Given the description of an element on the screen output the (x, y) to click on. 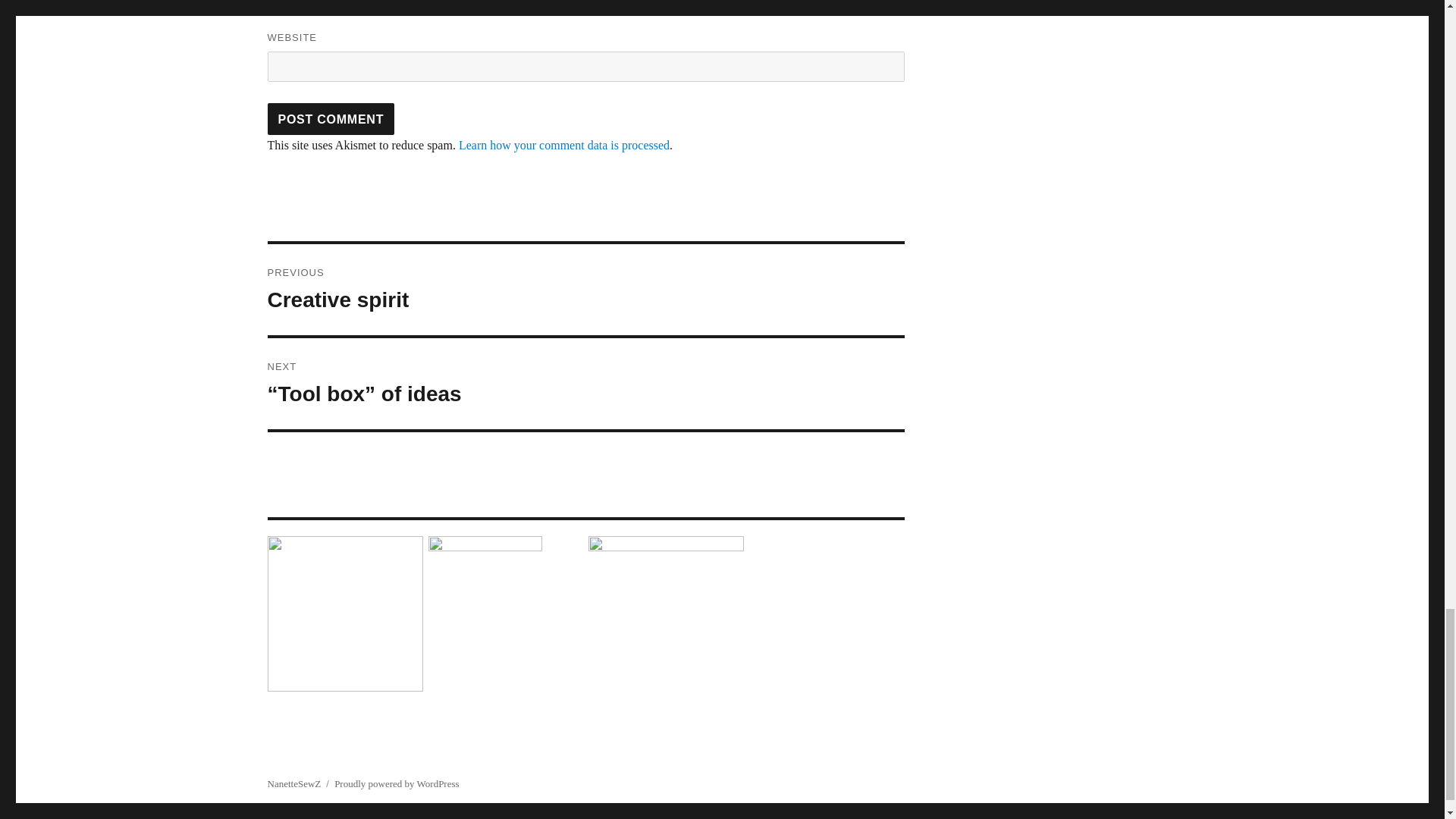
Learn how your comment data is processed (563, 144)
Post Comment (585, 289)
Post Comment (330, 119)
